Given the description of an element on the screen output the (x, y) to click on. 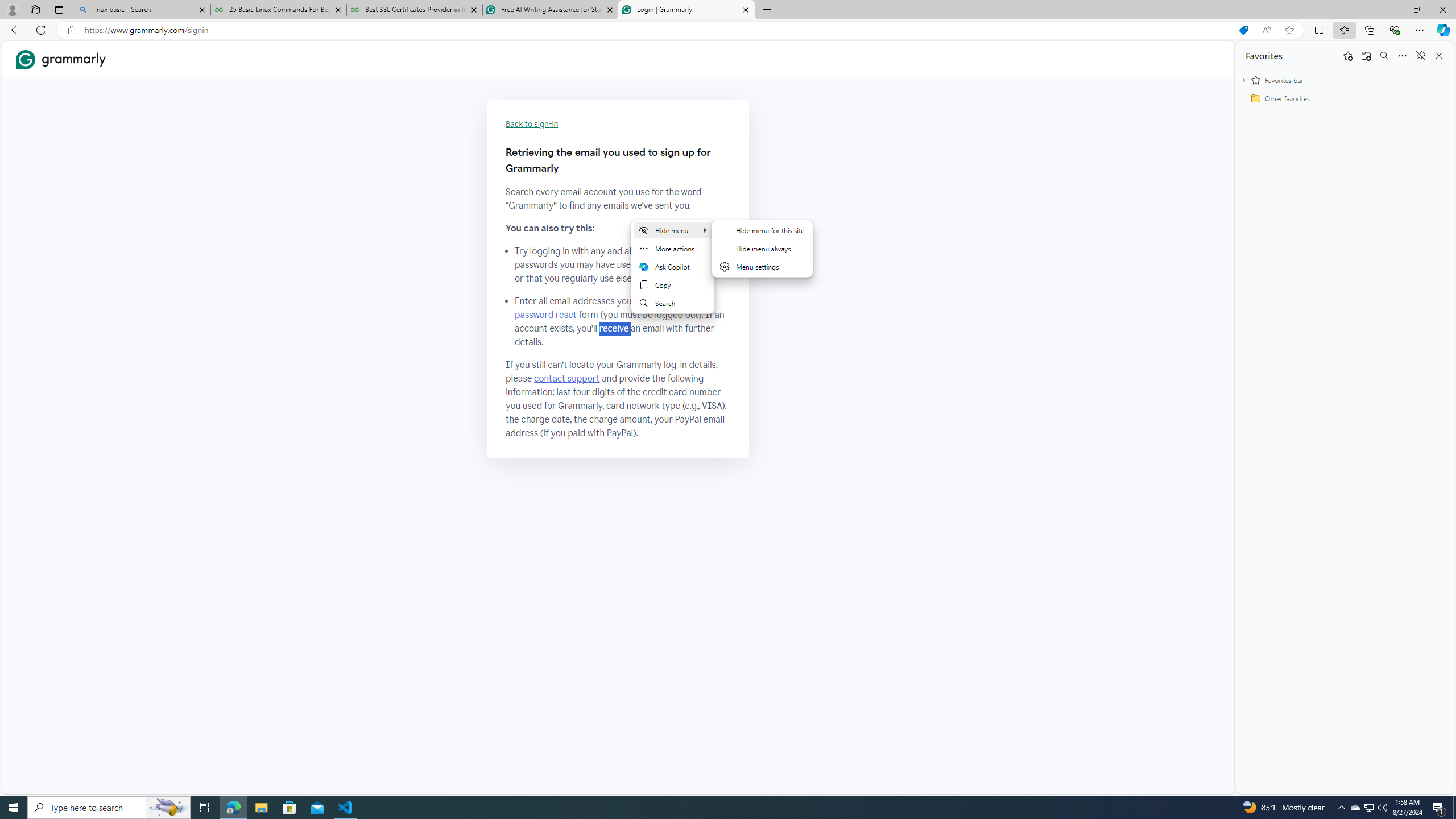
linux basic - Search (142, 9)
Search favorites (1383, 55)
Add folder (1366, 55)
Hide menu always (761, 248)
Mini menu on text selection (672, 266)
Close favorites (1439, 55)
